Given the description of an element on the screen output the (x, y) to click on. 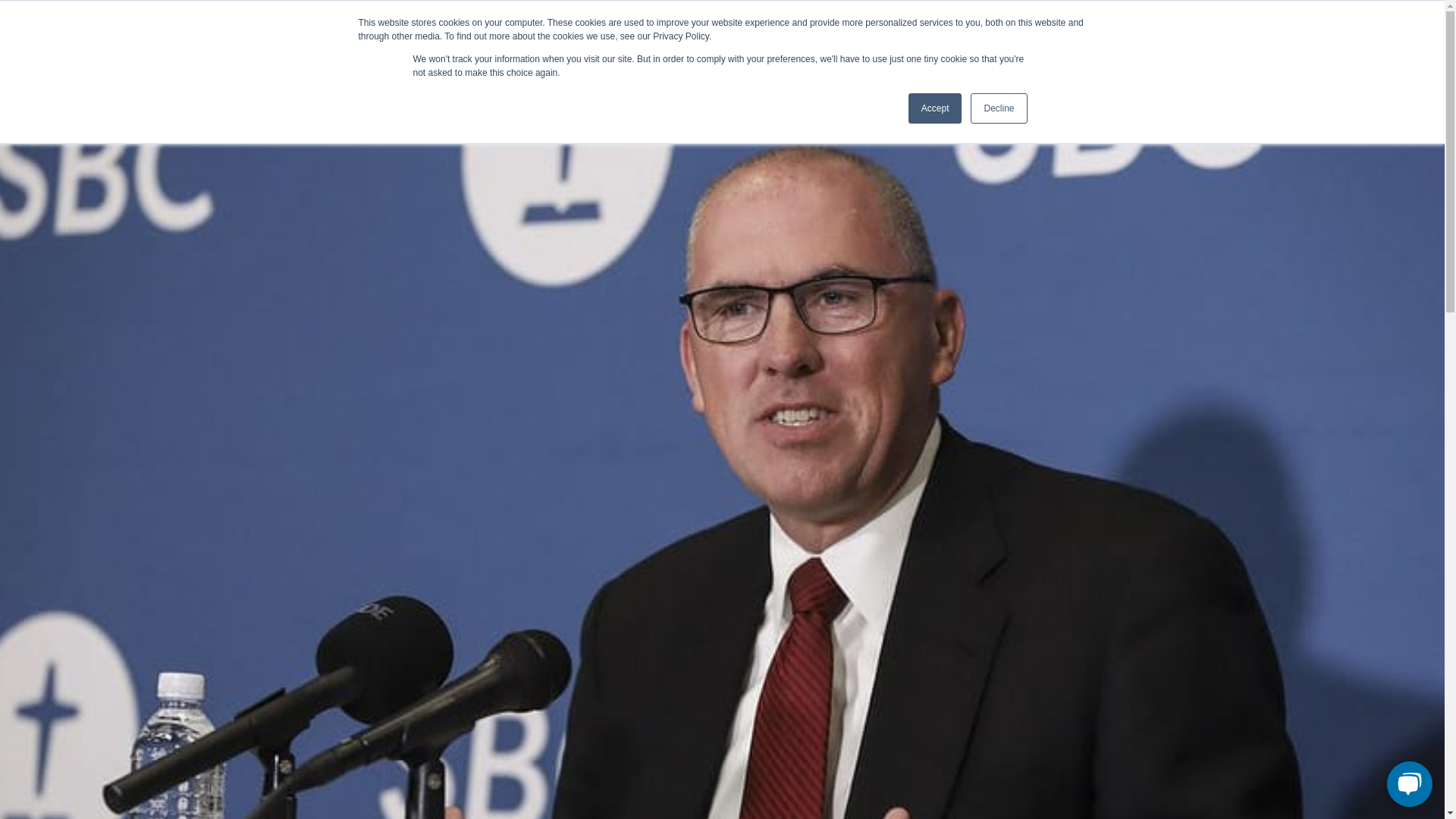
Contact Us (1051, 23)
Team (1076, 92)
Cooperative Program (975, 92)
Twitter (364, 25)
Instagram (435, 25)
Vimeo (458, 25)
Church Search (842, 23)
Resources (1231, 92)
Accept (935, 108)
Team (1000, 23)
Decline (998, 108)
About BRN (859, 92)
Facebook (387, 25)
Pinterest (411, 25)
Calendar (1147, 92)
